Given the description of an element on the screen output the (x, y) to click on. 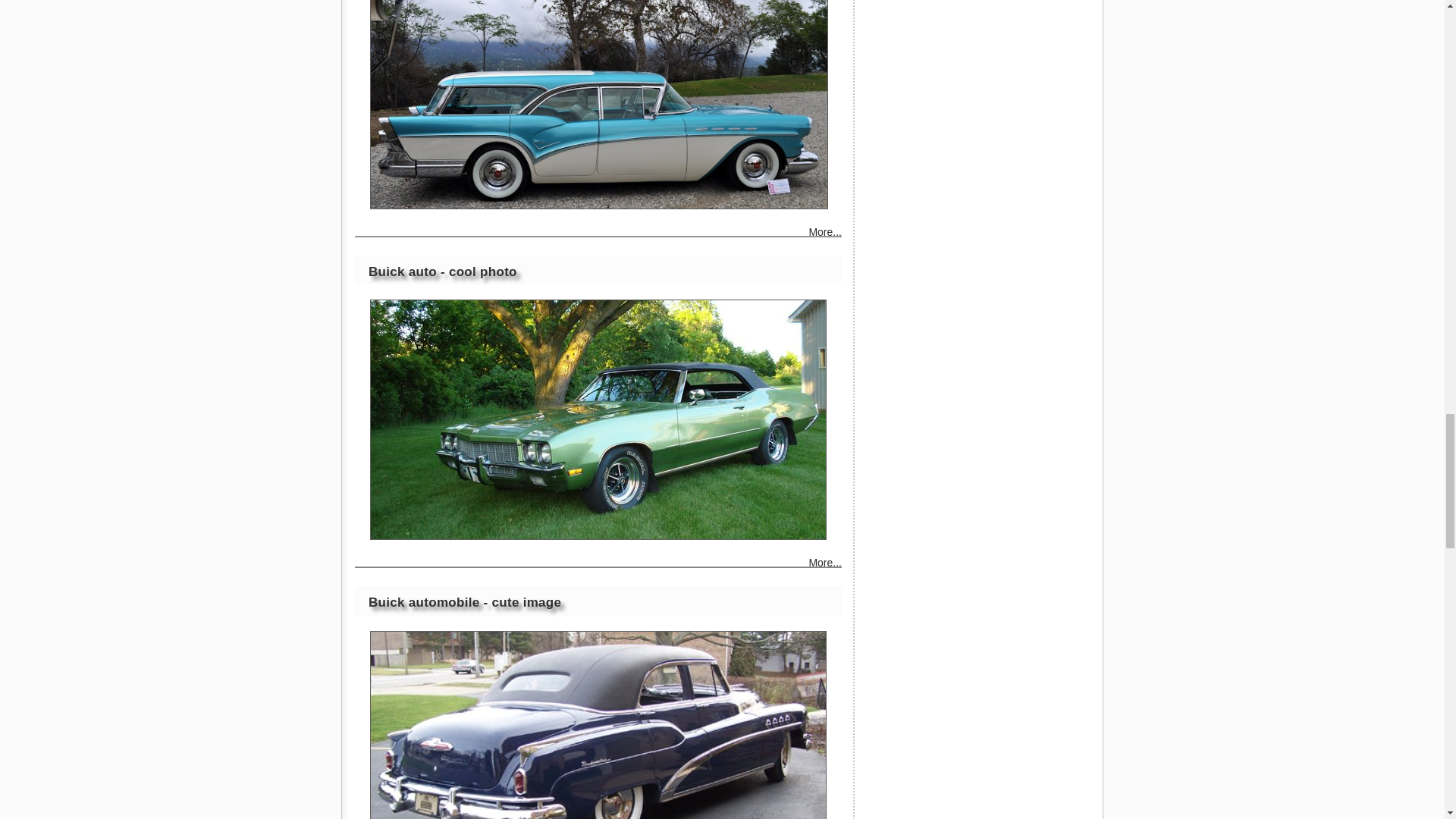
Buick automobile - cute image (598, 724)
Buick automobile - photo (598, 104)
Buick automobile - cute image (464, 602)
More... (824, 564)
Buick auto - cool photo (442, 271)
Buick auto - cool photo (598, 419)
More... (824, 233)
